Given the description of an element on the screen output the (x, y) to click on. 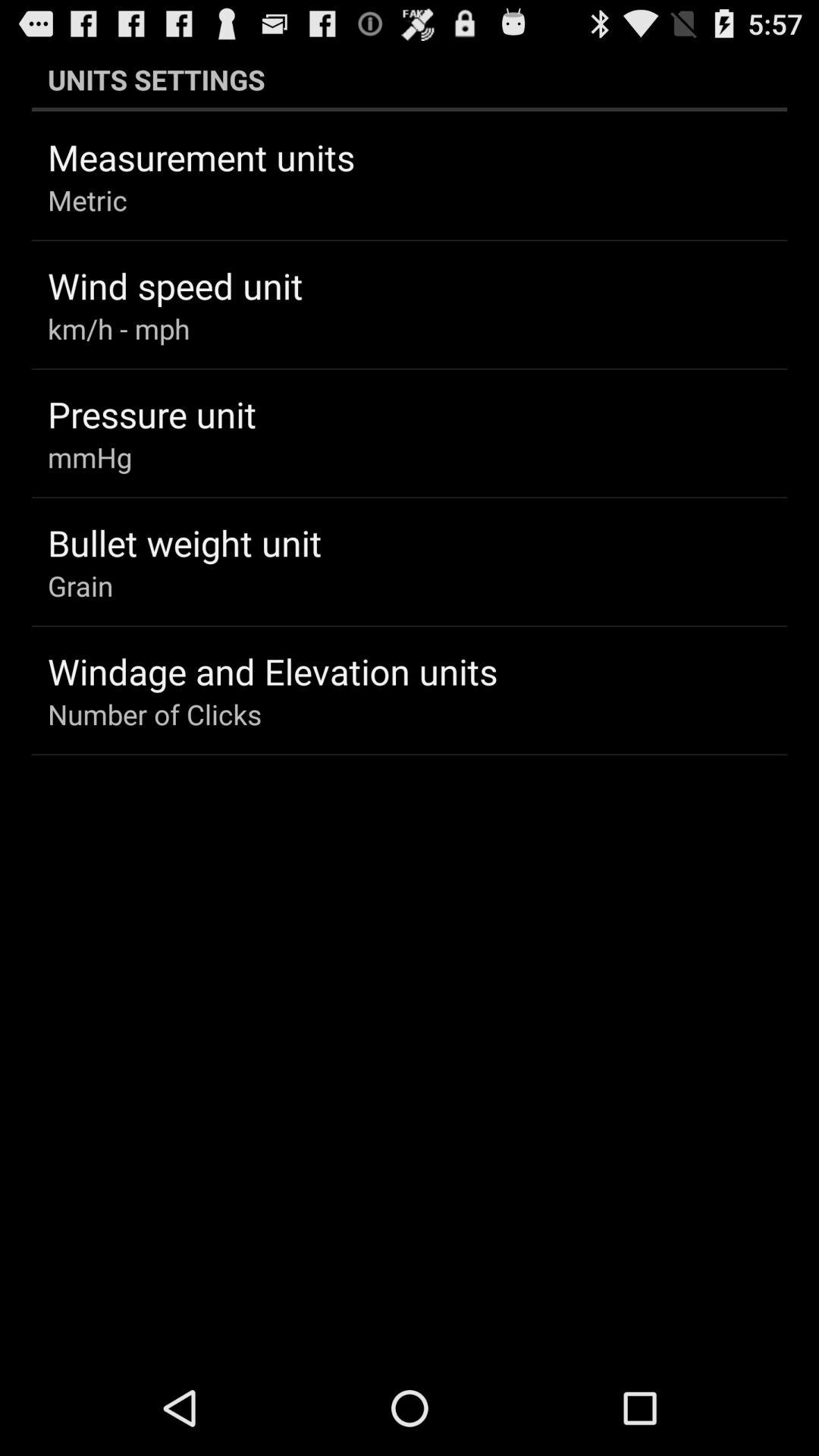
open the icon below the measurement units icon (87, 199)
